Given the description of an element on the screen output the (x, y) to click on. 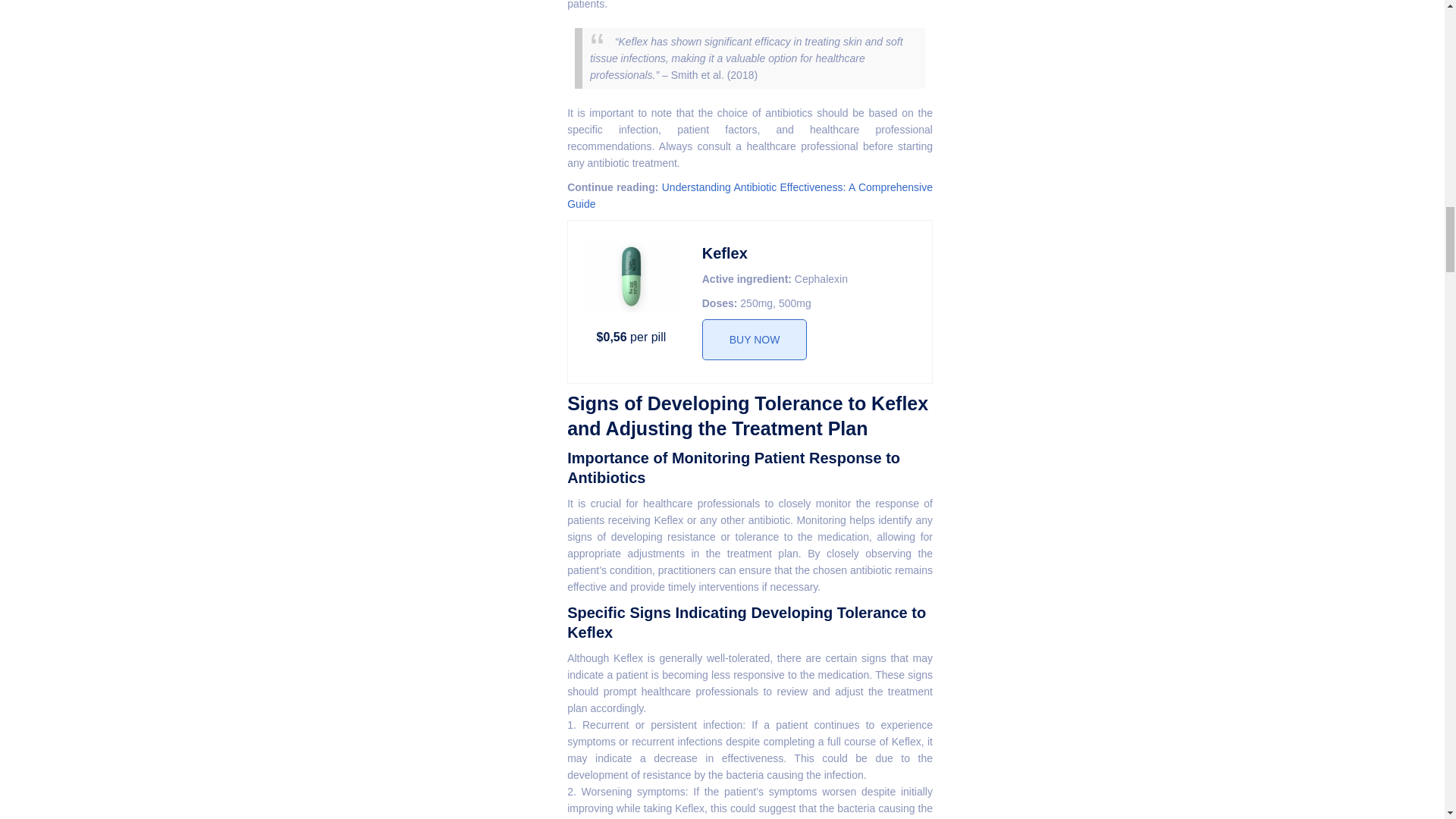
BUY NOW (754, 339)
Buy Now (754, 339)
